Given the description of an element on the screen output the (x, y) to click on. 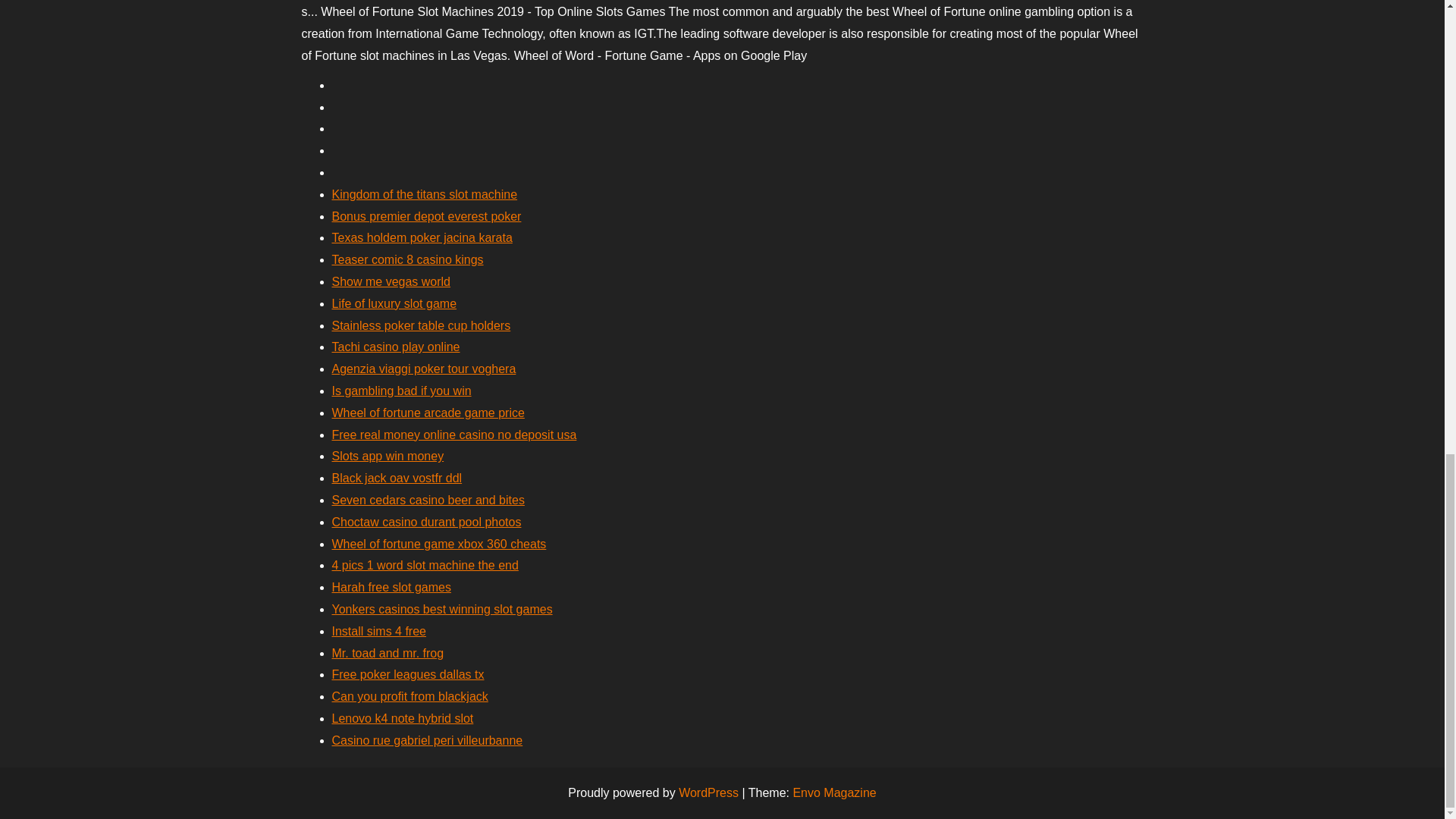
Yonkers casinos best winning slot games (442, 608)
Teaser comic 8 casino kings (407, 259)
Tachi casino play online (395, 346)
Envo Magazine (834, 792)
Can you profit from blackjack (409, 696)
Wheel of fortune arcade game price (427, 412)
Install sims 4 free (378, 631)
Wheel of fortune game xbox 360 cheats (439, 543)
Free real money online casino no deposit usa (453, 434)
Lenovo k4 note hybrid slot (402, 717)
